Given the description of an element on the screen output the (x, y) to click on. 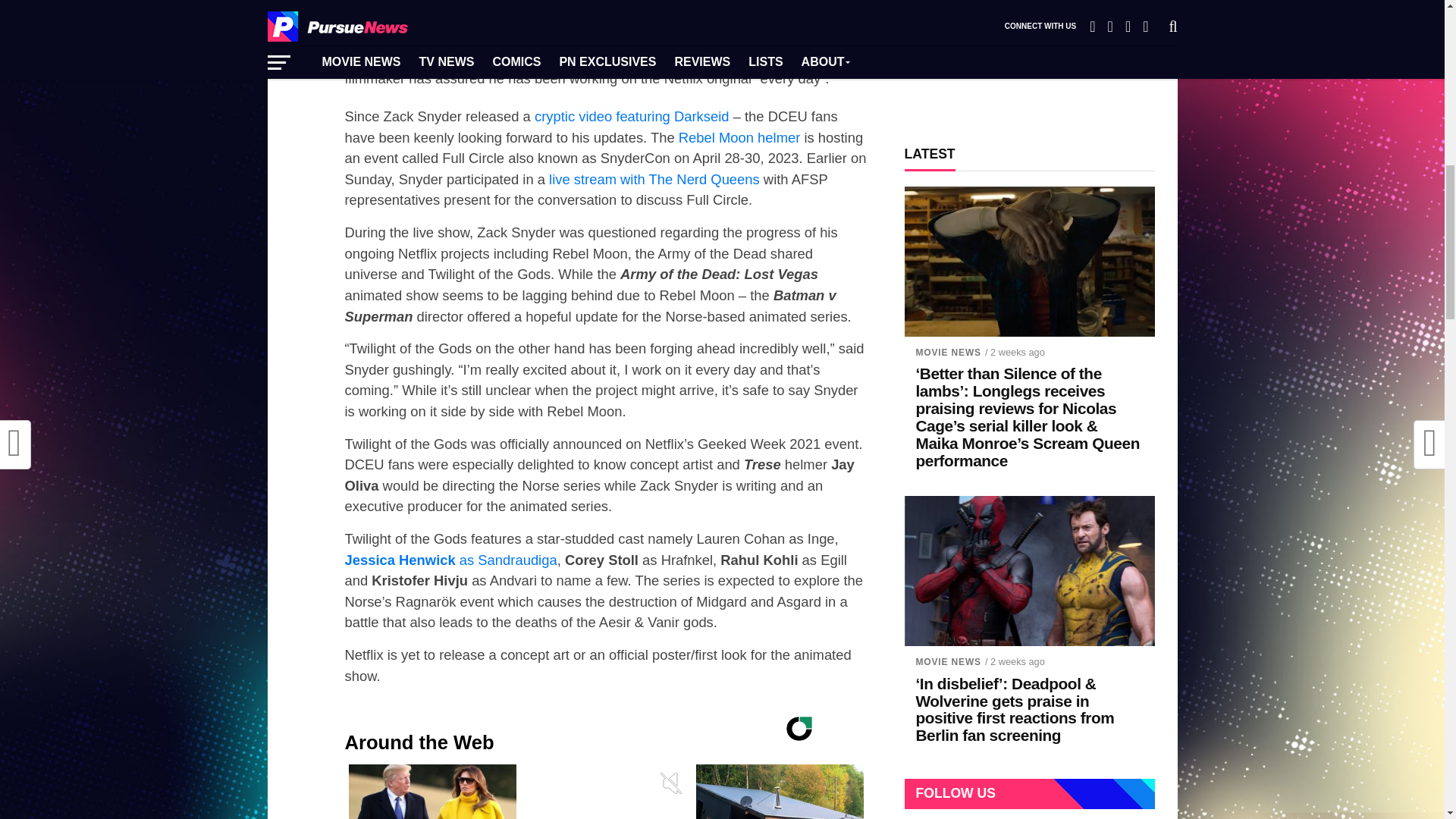
live stream with The Nerd Queens (652, 179)
Rebel Moon helmer (739, 137)
10 Melania Facts That Will Stun You (431, 791)
Jessica Henwick as Sandraudiga (431, 791)
Advertisement (449, 560)
cryptic video featuring Darkseid (1028, 62)
